Given the description of an element on the screen output the (x, y) to click on. 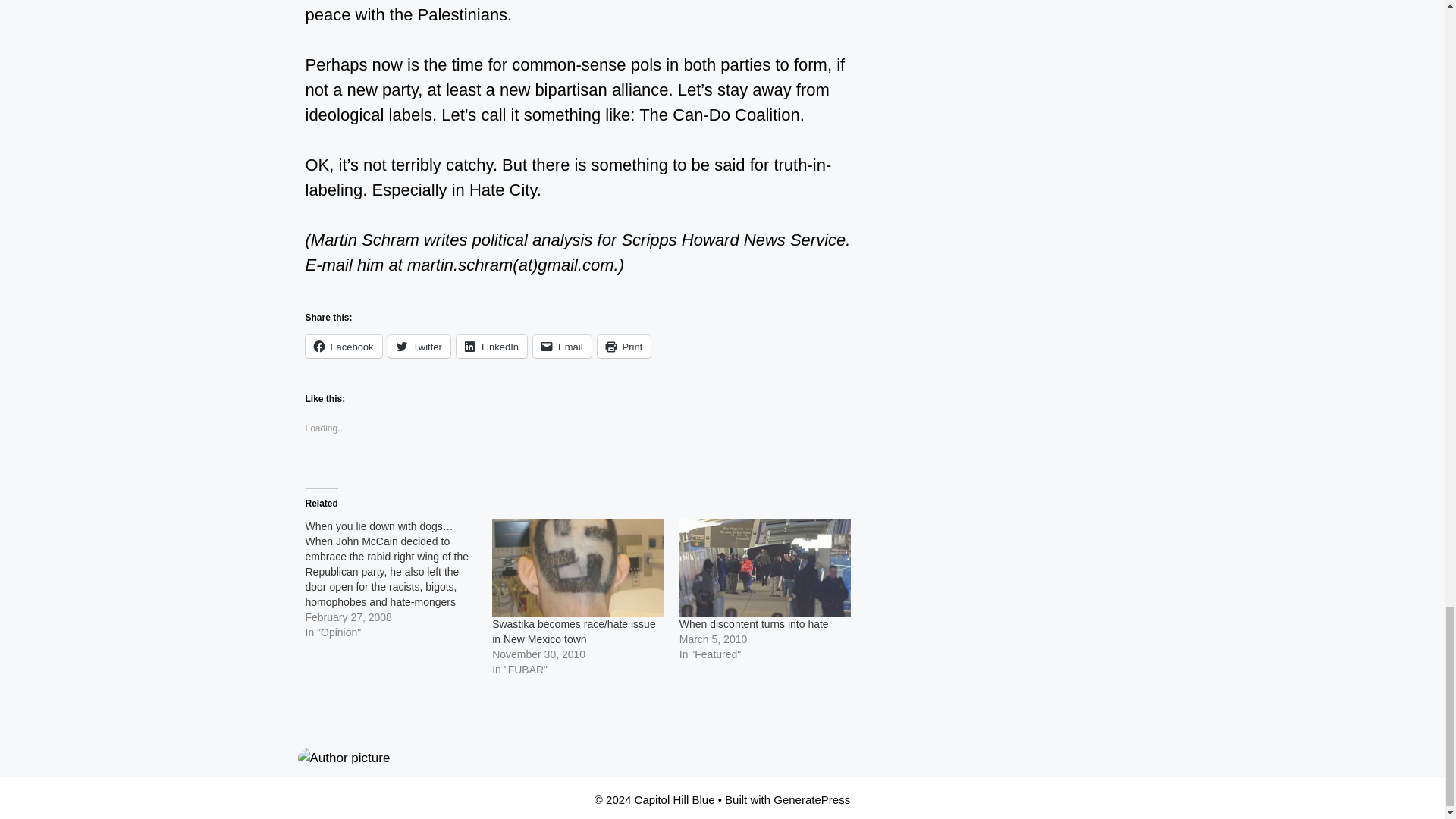
Print (623, 345)
GeneratePress (811, 799)
Click to share on Facebook (342, 345)
When discontent turns into hate (753, 623)
Email (561, 345)
Click to share on LinkedIn (492, 345)
Facebook (342, 345)
Click to email a link to a friend (561, 345)
Click to share on Twitter (418, 345)
Twitter (418, 345)
Click to print (623, 345)
When discontent turns into hate (765, 567)
When discontent turns into hate (753, 623)
LinkedIn (492, 345)
